Given the description of an element on the screen output the (x, y) to click on. 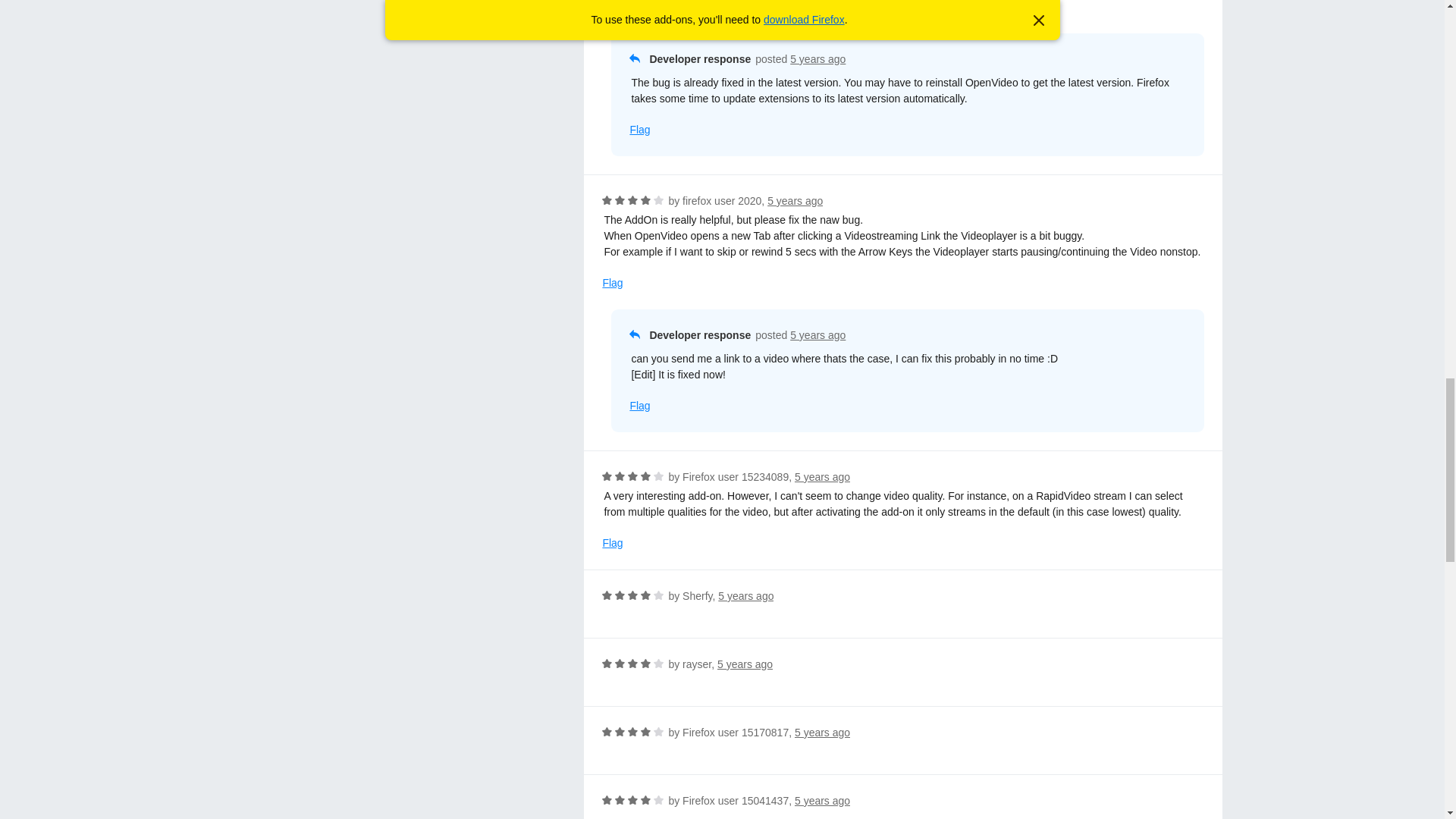
5 years ago (817, 59)
Flag (612, 7)
